Given the description of an element on the screen output the (x, y) to click on. 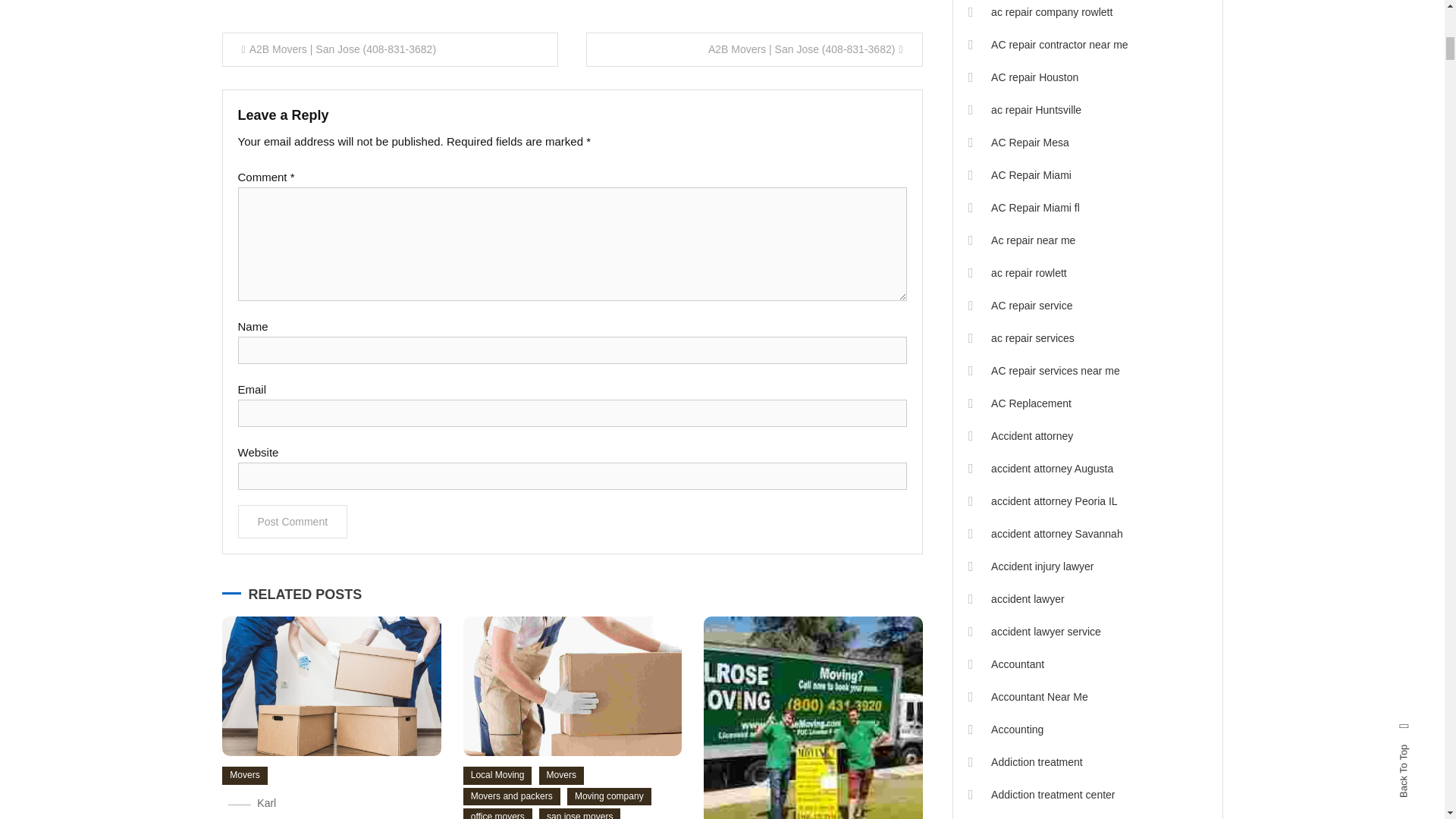
Post Comment (292, 521)
